Given the description of an element on the screen output the (x, y) to click on. 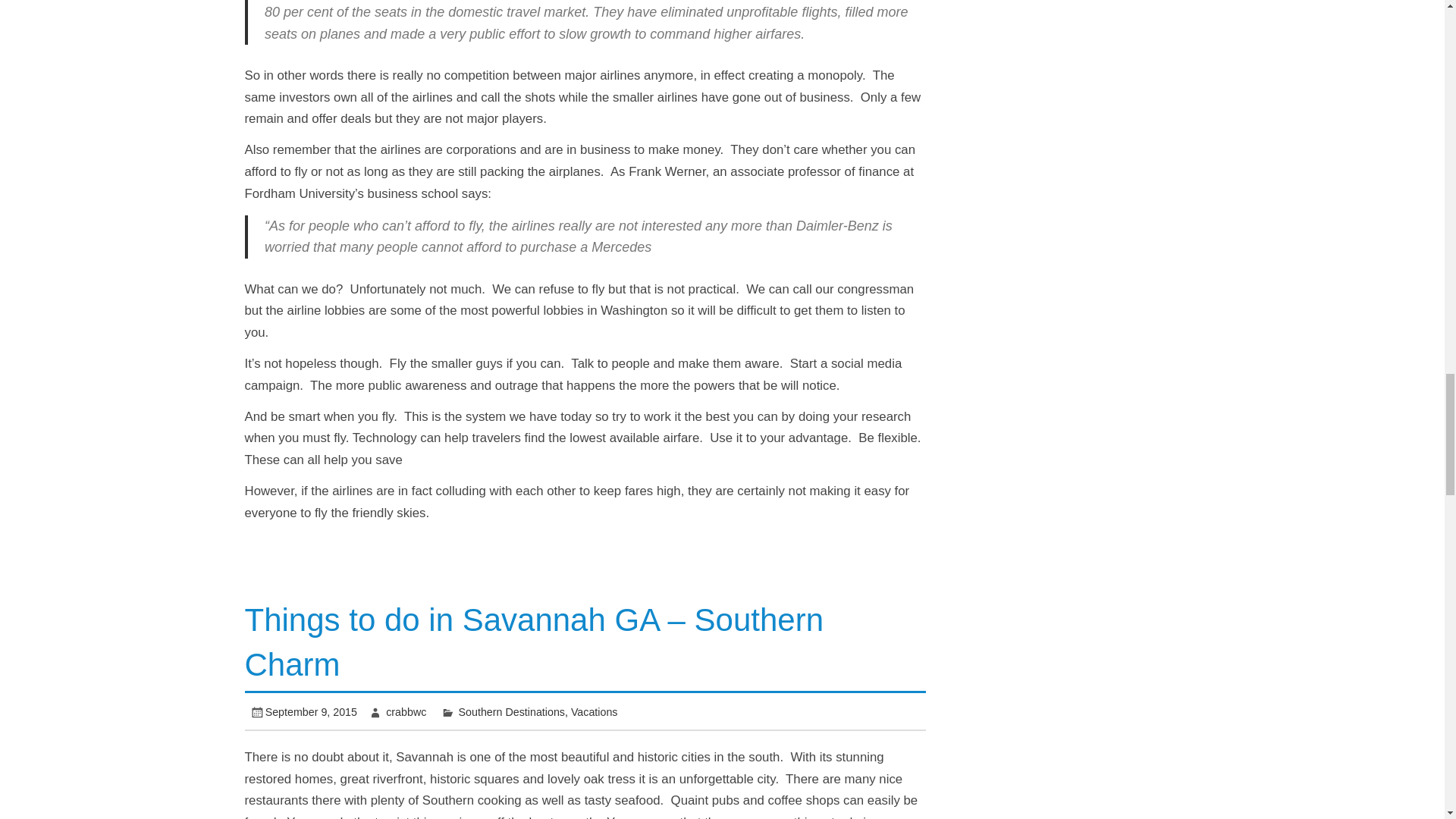
View all posts by crabbwc (405, 711)
crabbwc (405, 711)
Southern Destinations (511, 711)
2:33 pm (310, 711)
Vacations (593, 711)
September 9, 2015 (310, 711)
